Given the description of an element on the screen output the (x, y) to click on. 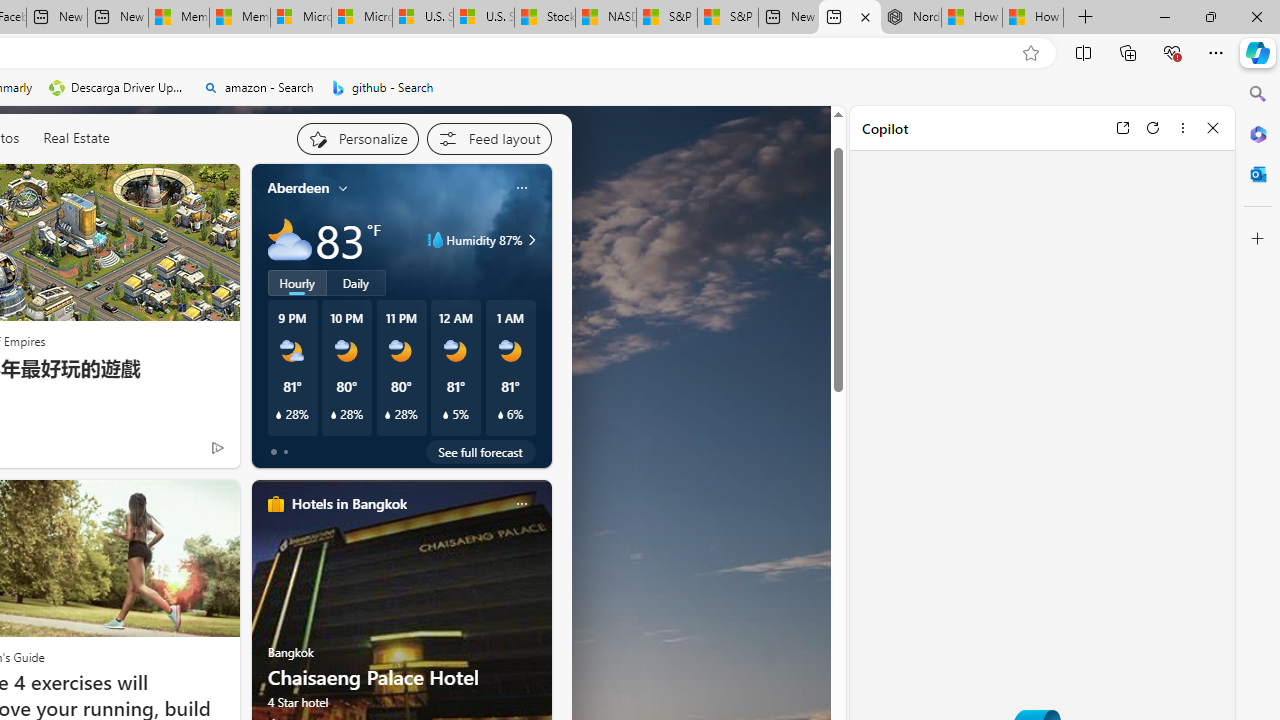
Restore (1210, 16)
Minimize (1164, 16)
Mostly cloudy (289, 240)
Microsoft 365 (1258, 133)
New Tab (1085, 17)
Class: weather-current-precipitation-glyph (500, 415)
tab-1 (285, 451)
Outlook (1258, 174)
Class: icon-img (521, 503)
More options (1182, 127)
